Given the description of an element on the screen output the (x, y) to click on. 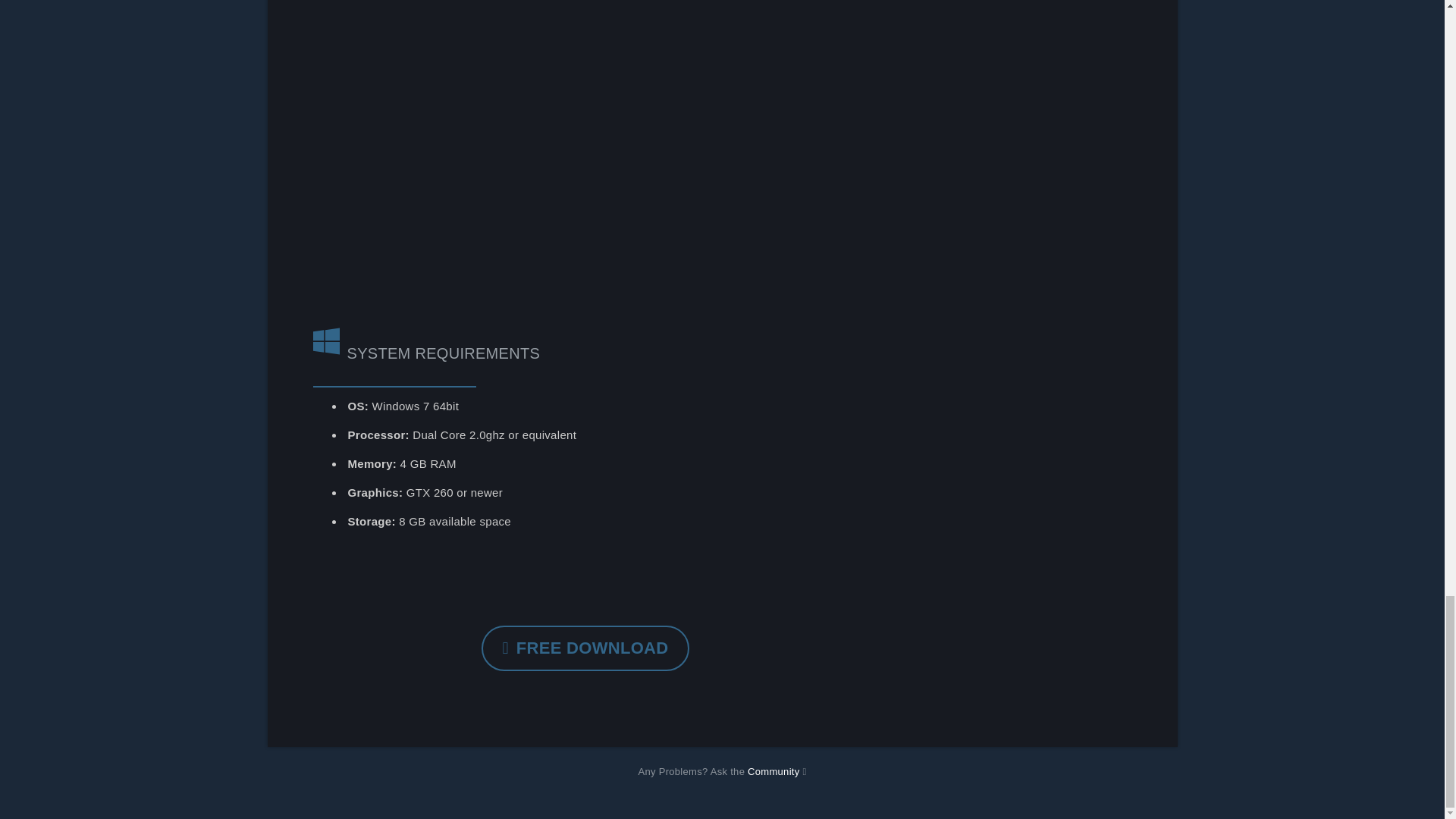
FREE DOWNLOAD (584, 647)
